Given the description of an element on the screen output the (x, y) to click on. 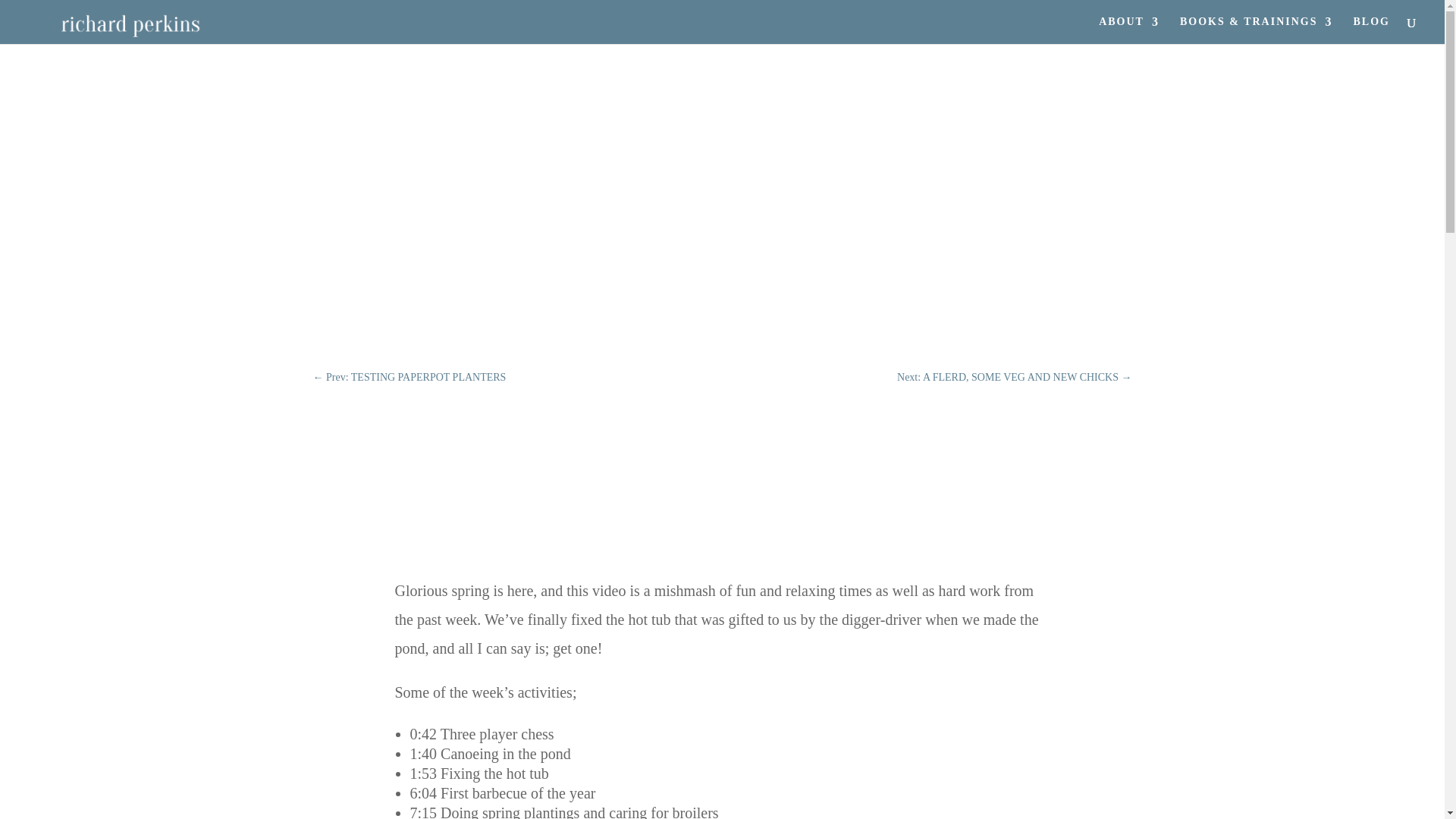
0 comments (721, 197)
BLOG (1372, 30)
ABOUT (1128, 30)
